Given the description of an element on the screen output the (x, y) to click on. 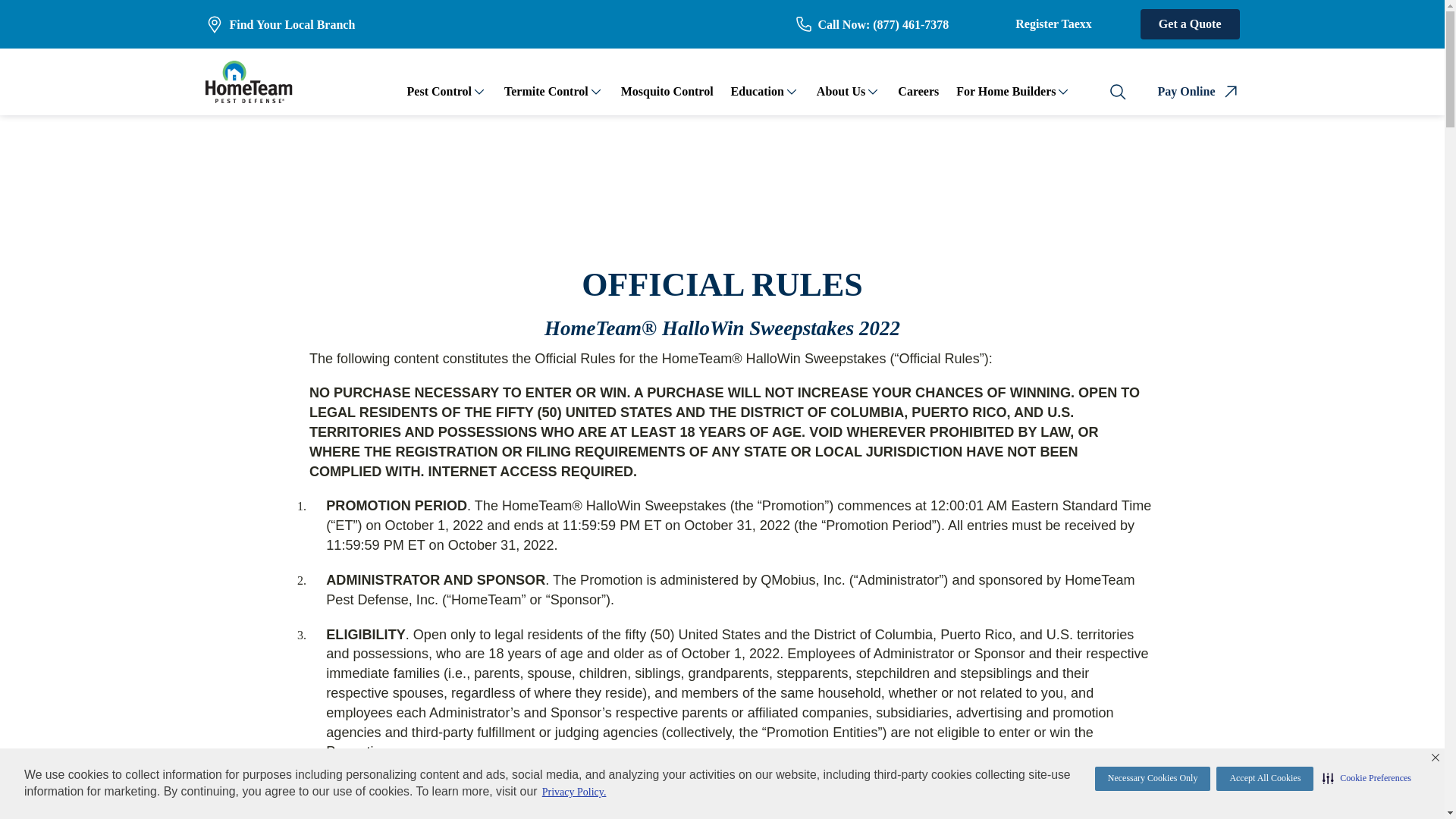
For Home Builders (1005, 91)
Education (757, 91)
Privacy Policy. (574, 791)
Necessary Cookies Only (1152, 778)
Accept All Cookies (1264, 778)
Cookie Preferences (1366, 778)
Pest Control (439, 91)
Get a Quote (1190, 24)
Find Your Local Branch (280, 24)
About Us (840, 91)
Mosquito Control (667, 91)
Register Taexx (1053, 23)
Termite Control (545, 91)
Careers (918, 91)
